Given the description of an element on the screen output the (x, y) to click on. 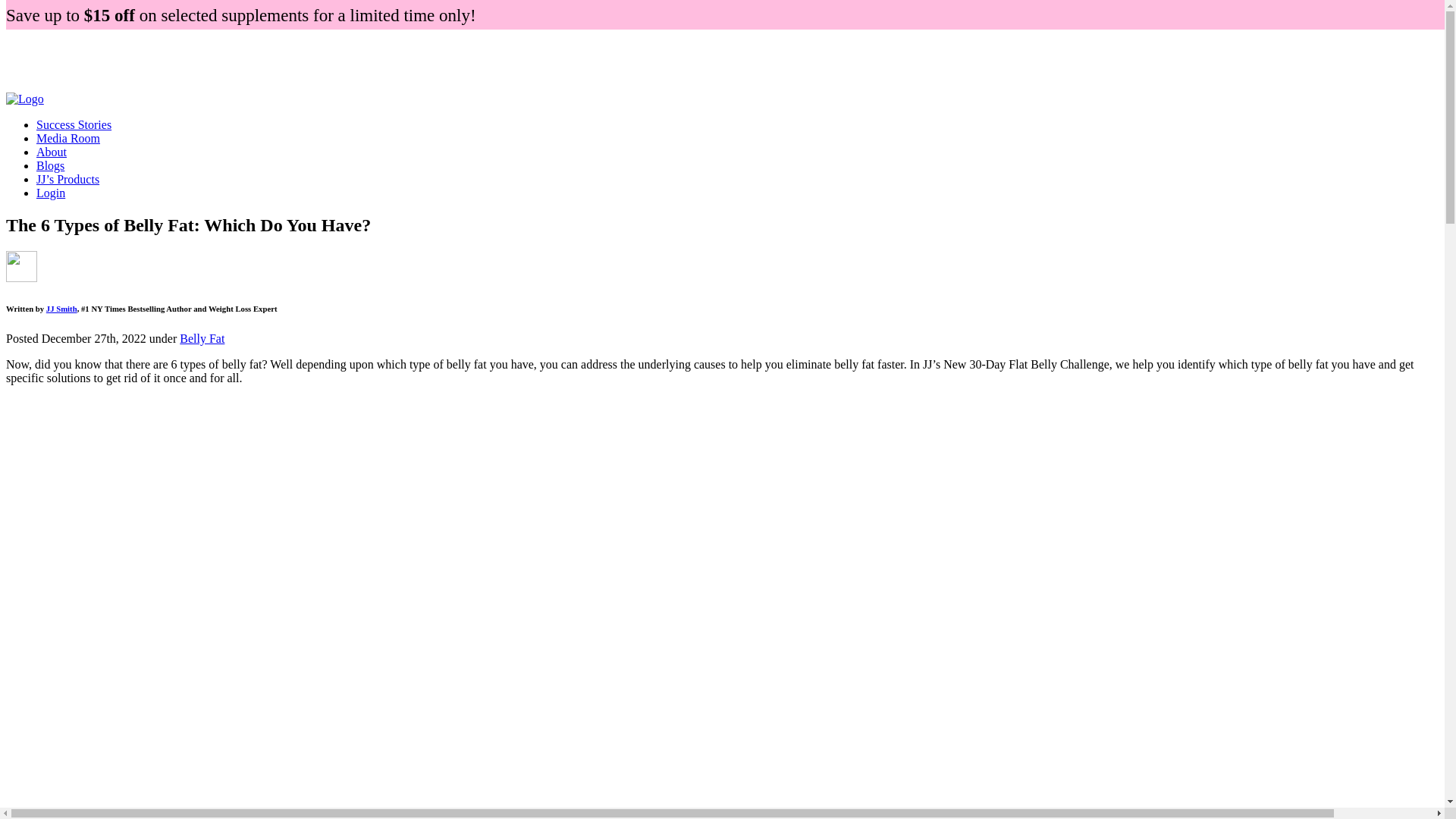
Success Stories (74, 124)
Media Room (68, 137)
About (51, 151)
Login (50, 192)
Belly Fat (201, 338)
Blogs (50, 164)
JJ Smith (61, 307)
